Given the description of an element on the screen output the (x, y) to click on. 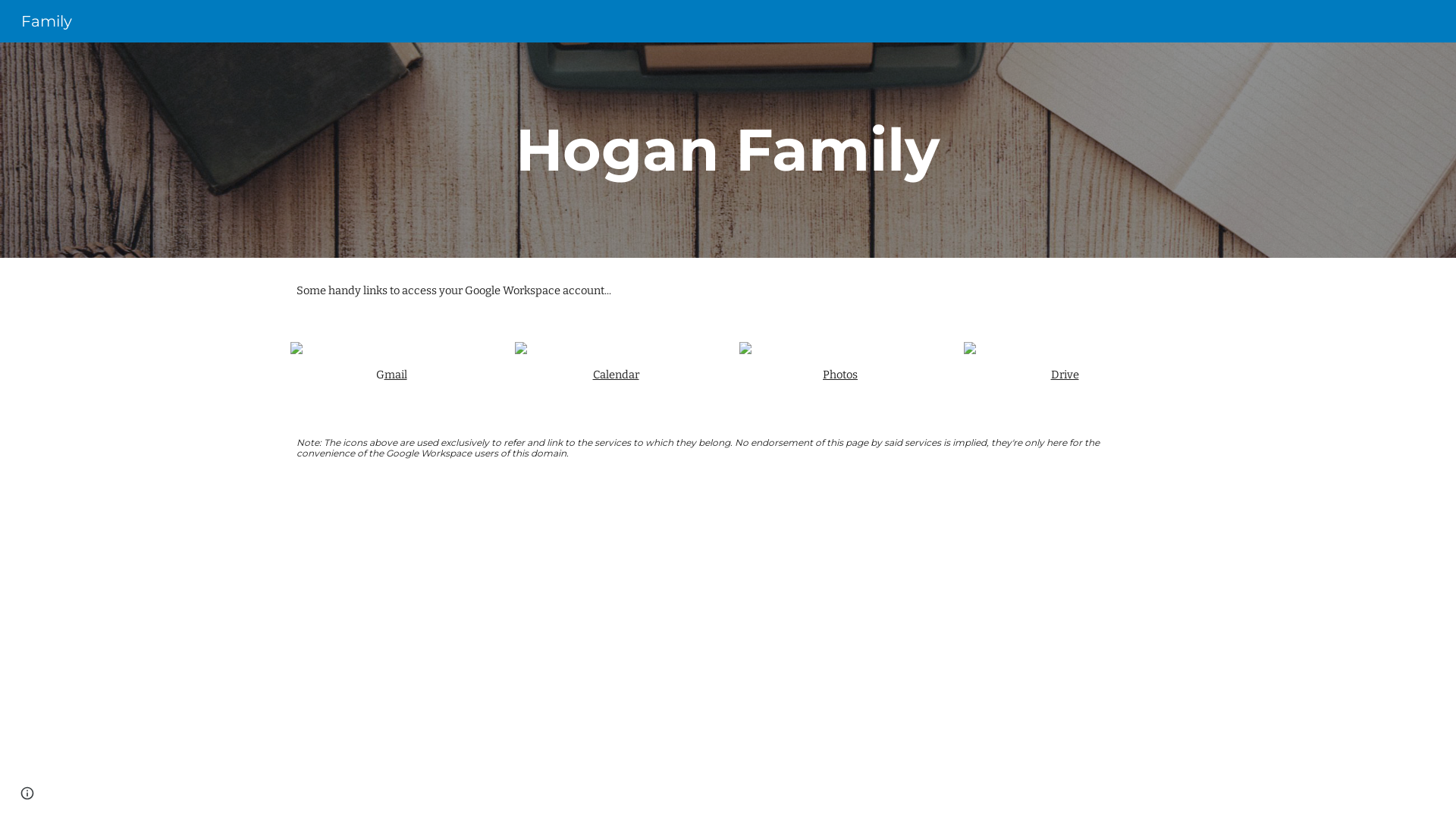
Family Element type: text (46, 19)
Drive Element type: text (1065, 374)
Photos Element type: text (839, 374)
Calendar Element type: text (616, 374)
mail Element type: text (394, 374)
